Given the description of an element on the screen output the (x, y) to click on. 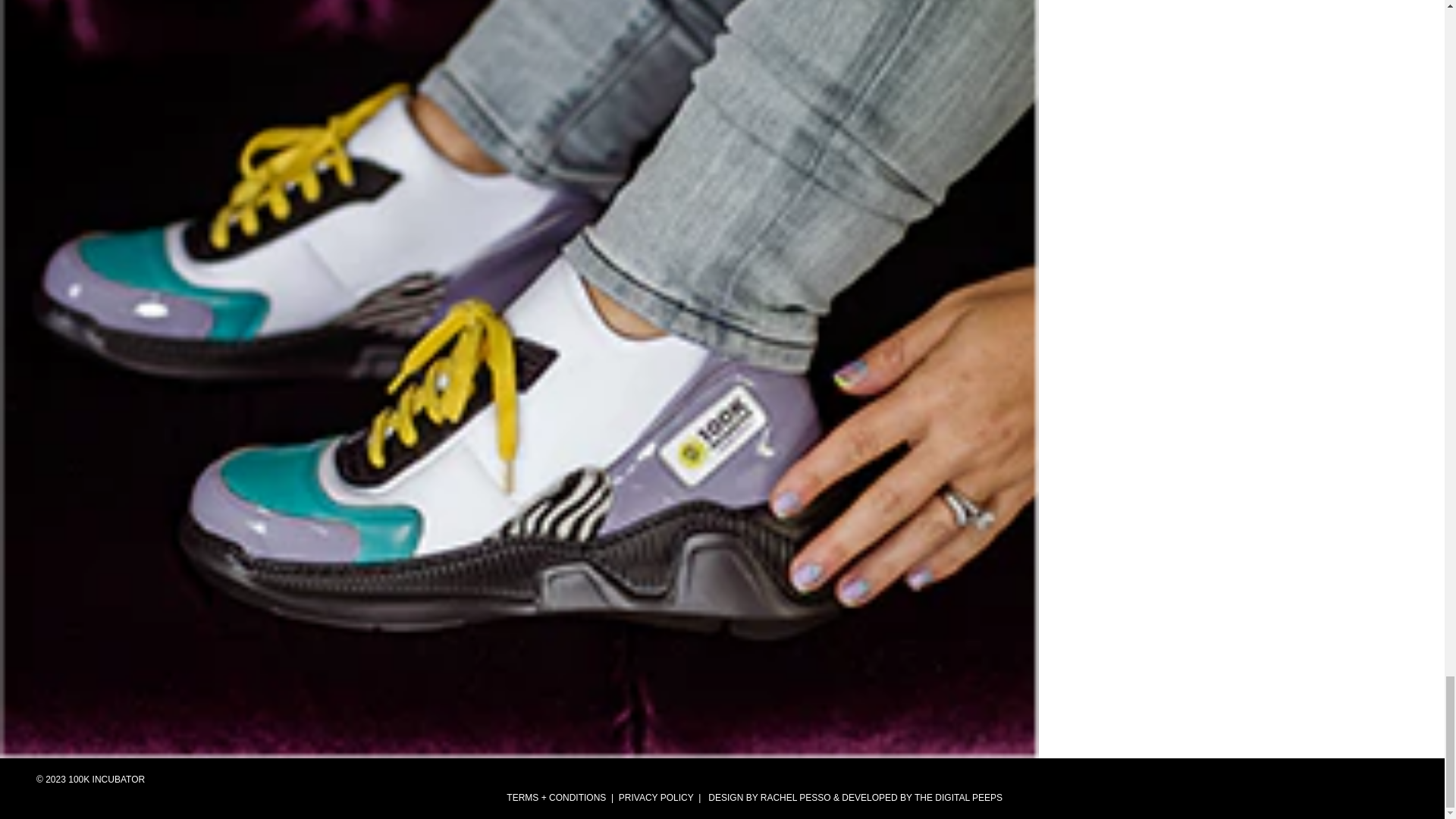
PRIVACY POLICY (654, 797)
THE DIGITAL PEEPS (958, 797)
DESIGN BY RACHEL PESSO (768, 797)
